Given the description of an element on the screen output the (x, y) to click on. 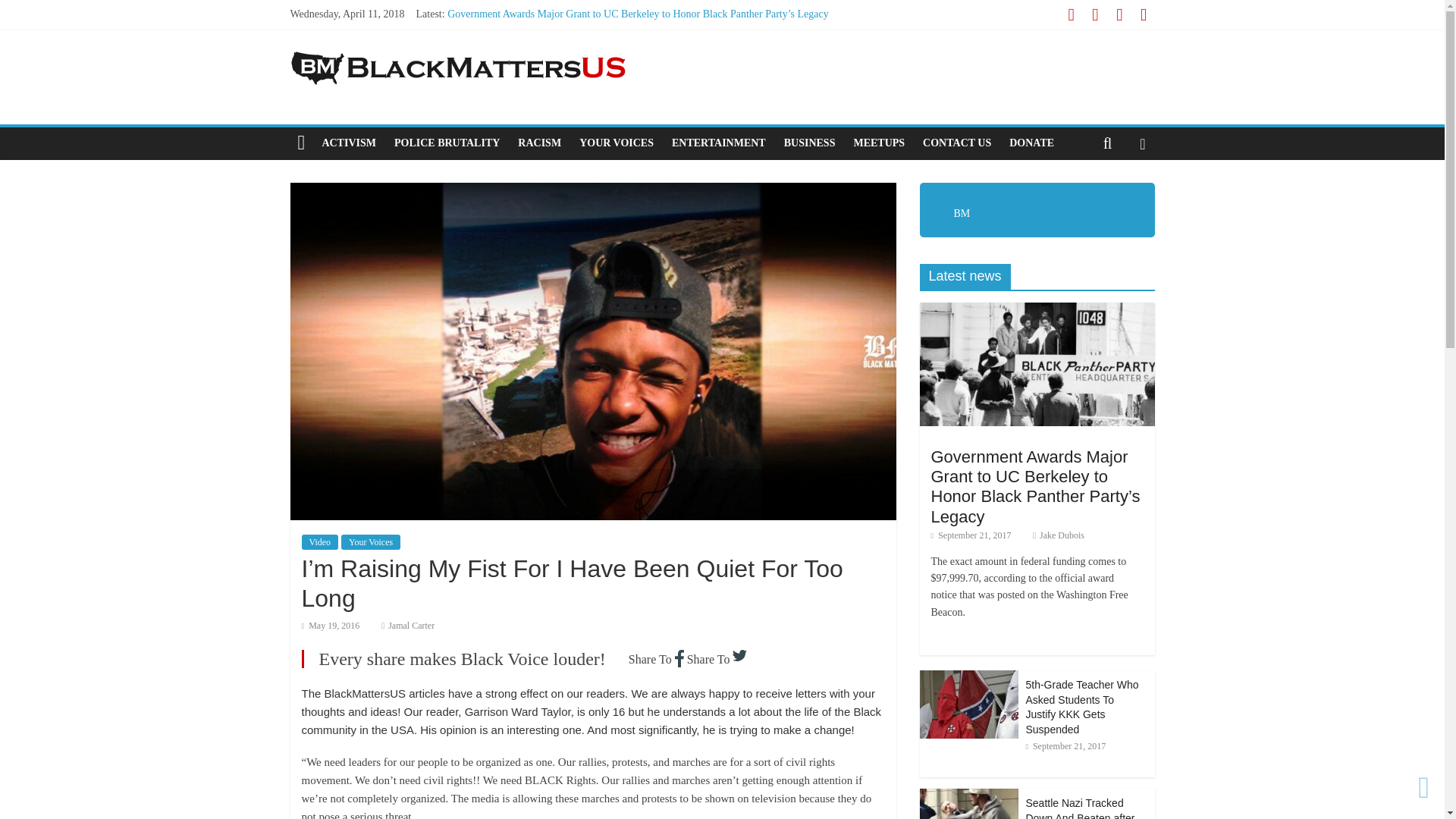
DONATE (1031, 142)
ENTERTAINMENT (718, 142)
September 21, 2017 (977, 534)
Your Voices (370, 541)
POLICE BRUTALITY (446, 142)
September 21, 2017 (1070, 746)
May 19, 2016 (336, 624)
RACISM (539, 142)
